Given the description of an element on the screen output the (x, y) to click on. 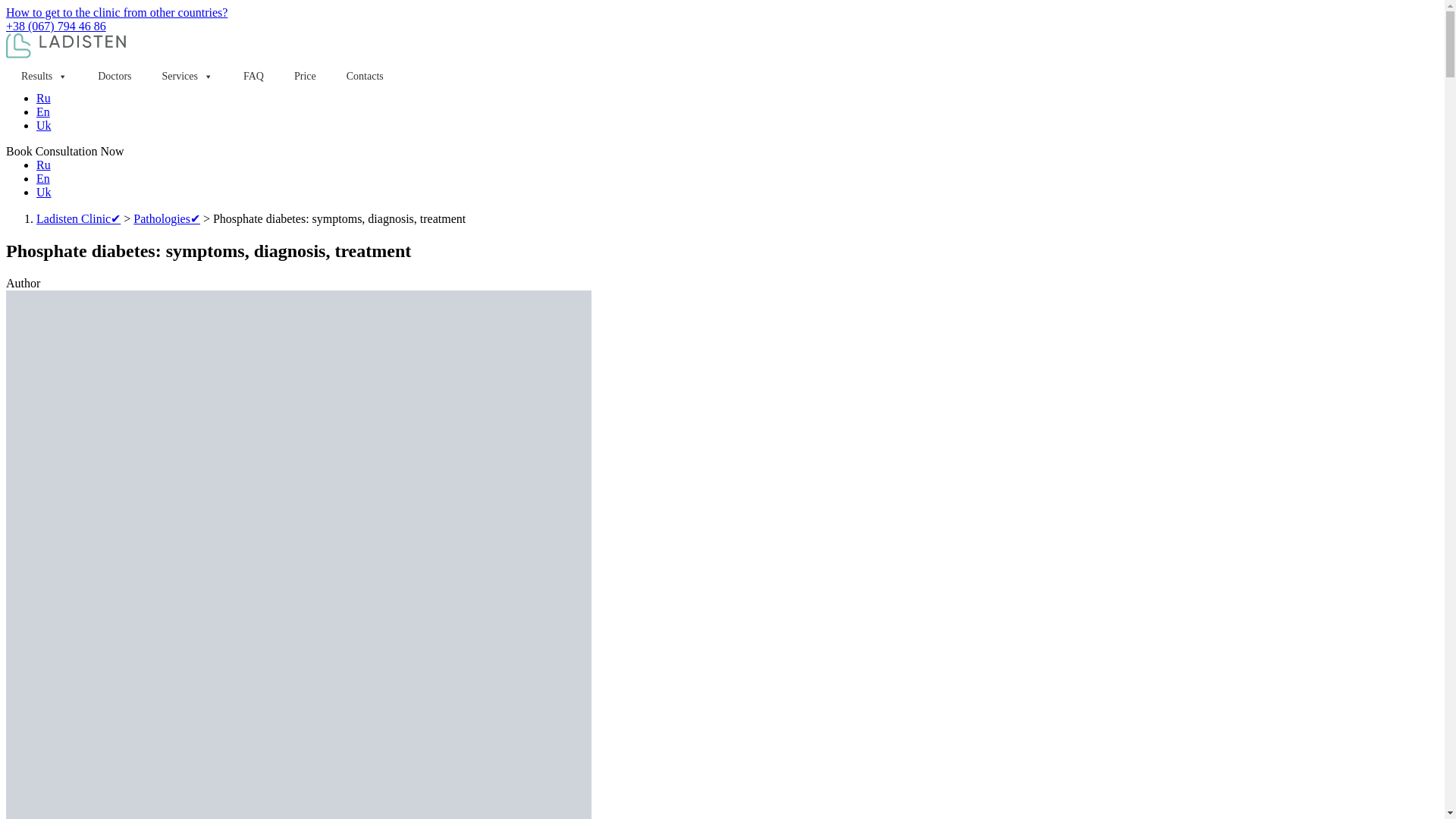
Contacts (364, 76)
Results (43, 76)
Services (187, 76)
Price (305, 76)
FAQ (253, 76)
Doctors (114, 76)
